Given the description of an element on the screen output the (x, y) to click on. 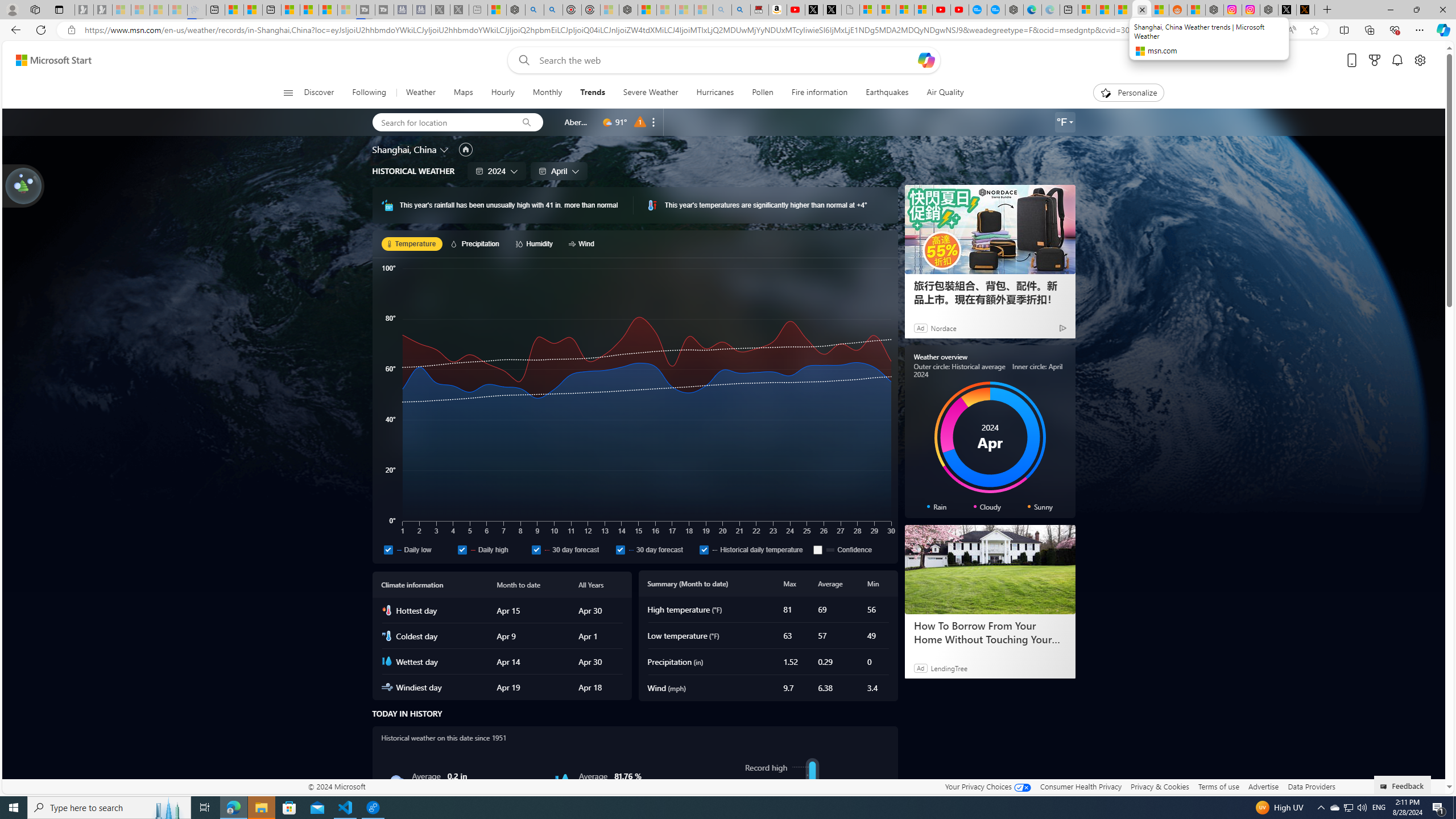
App available. Install Microsoft Start Weather (1268, 29)
Severe Weather (649, 92)
Terms of use (1218, 785)
Data Providers (1311, 786)
Humidity (536, 243)
Fire information (818, 92)
Severe Weather (650, 92)
Air Quality (940, 92)
Nordace (@NordaceOfficial) / X (1287, 9)
